Given the description of an element on the screen output the (x, y) to click on. 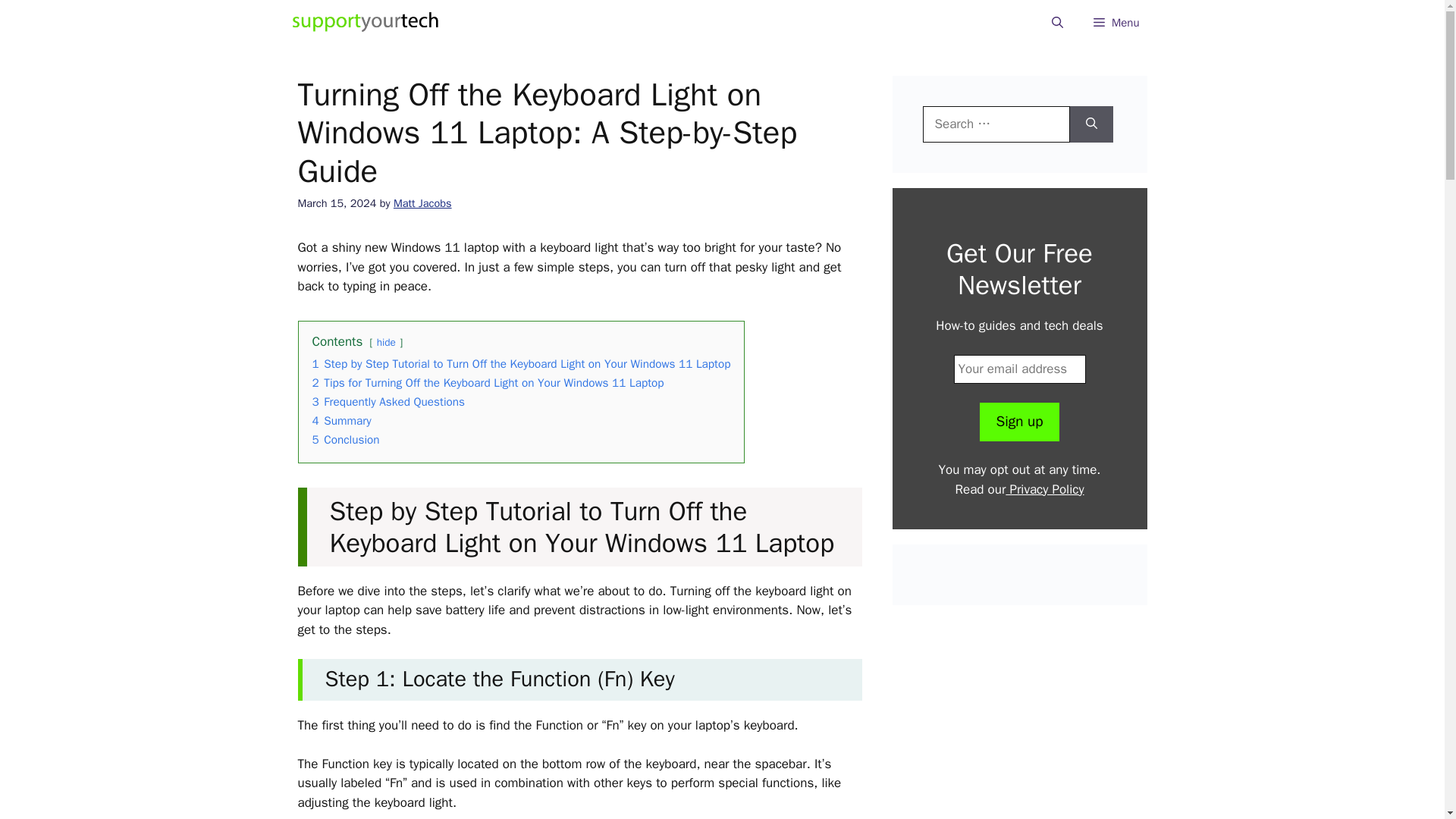
hide (386, 341)
Matt Jacobs (422, 202)
Menu (1116, 22)
4 Summary (342, 420)
5 Conclusion (346, 439)
Support Your Tech (365, 22)
3 Frequently Asked Questions (389, 401)
Sign up (1018, 421)
